Given the description of an element on the screen output the (x, y) to click on. 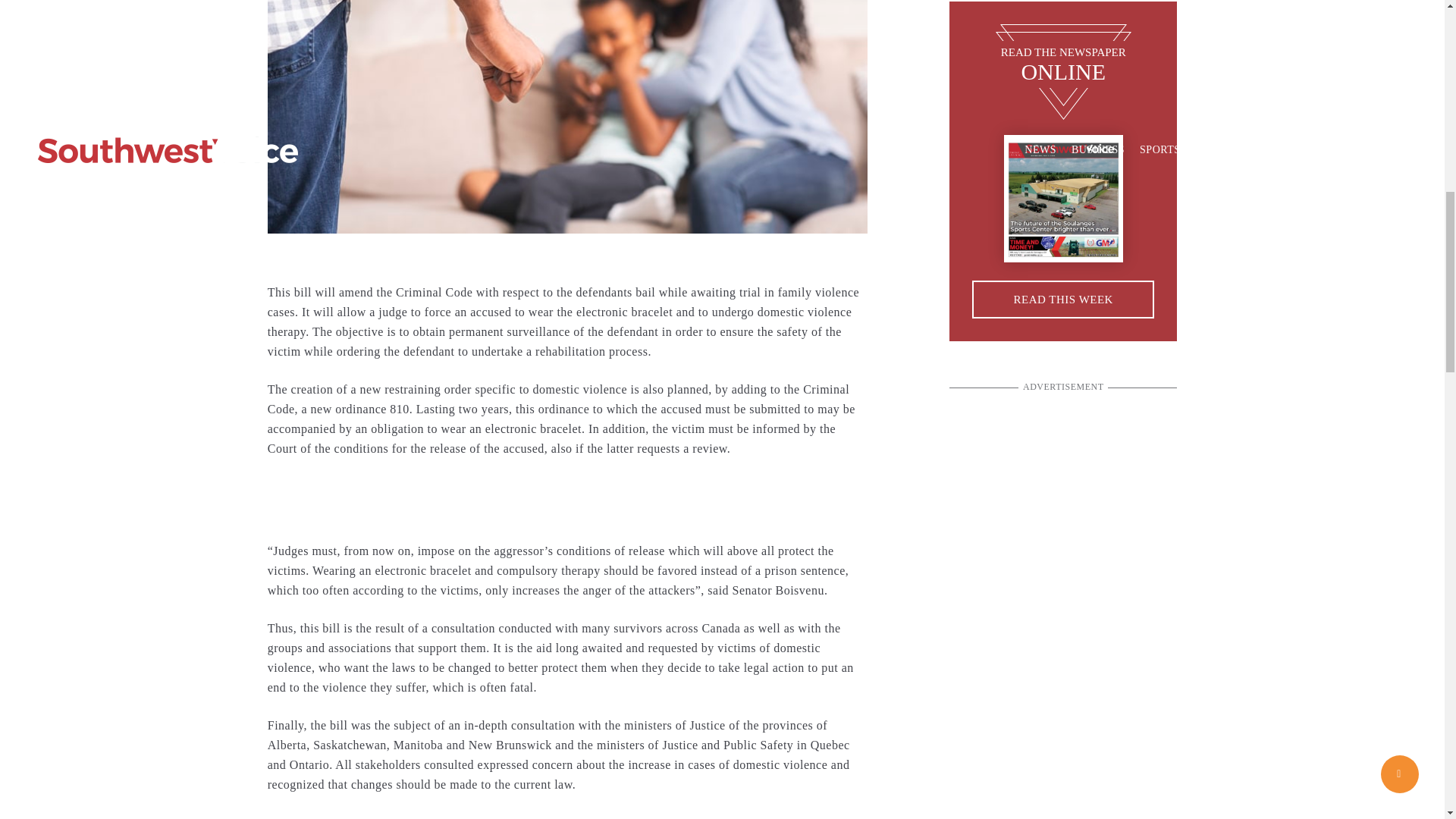
3rd party ad content (567, 499)
READ THIS WEEK (1063, 299)
3rd party ad content (1062, 496)
